Given the description of an element on the screen output the (x, y) to click on. 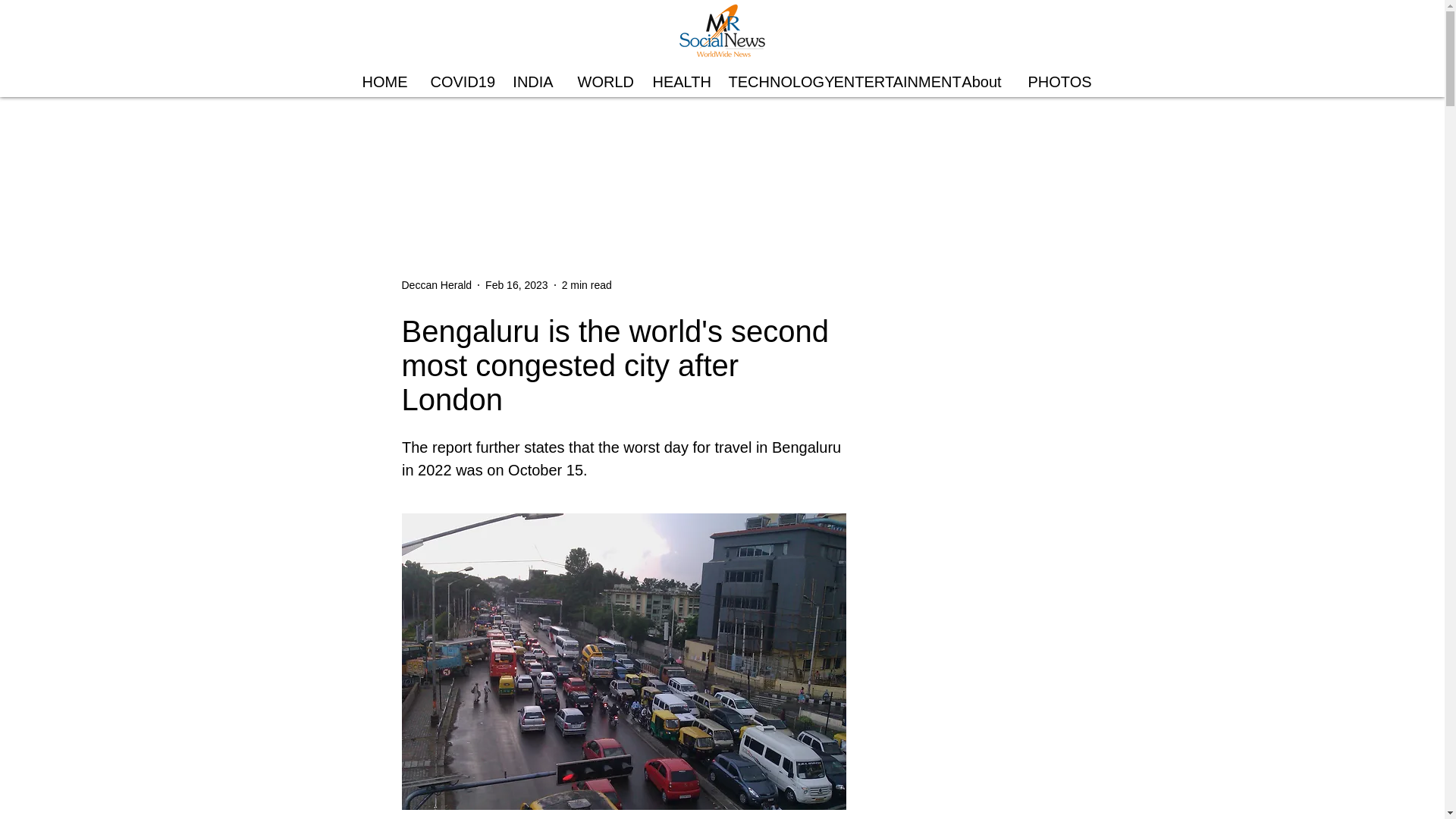
ENTERTAINMENT (884, 81)
COVID19 (459, 81)
INDIA (533, 81)
About (981, 81)
HEALTH (679, 81)
PHOTOS (1054, 81)
Feb 16, 2023 (516, 285)
Deccan Herald (436, 285)
TECHNOLOGY (769, 81)
HOME (384, 81)
2 min read (586, 285)
Deccan Herald (436, 285)
WORLD (603, 81)
